Given the description of an element on the screen output the (x, y) to click on. 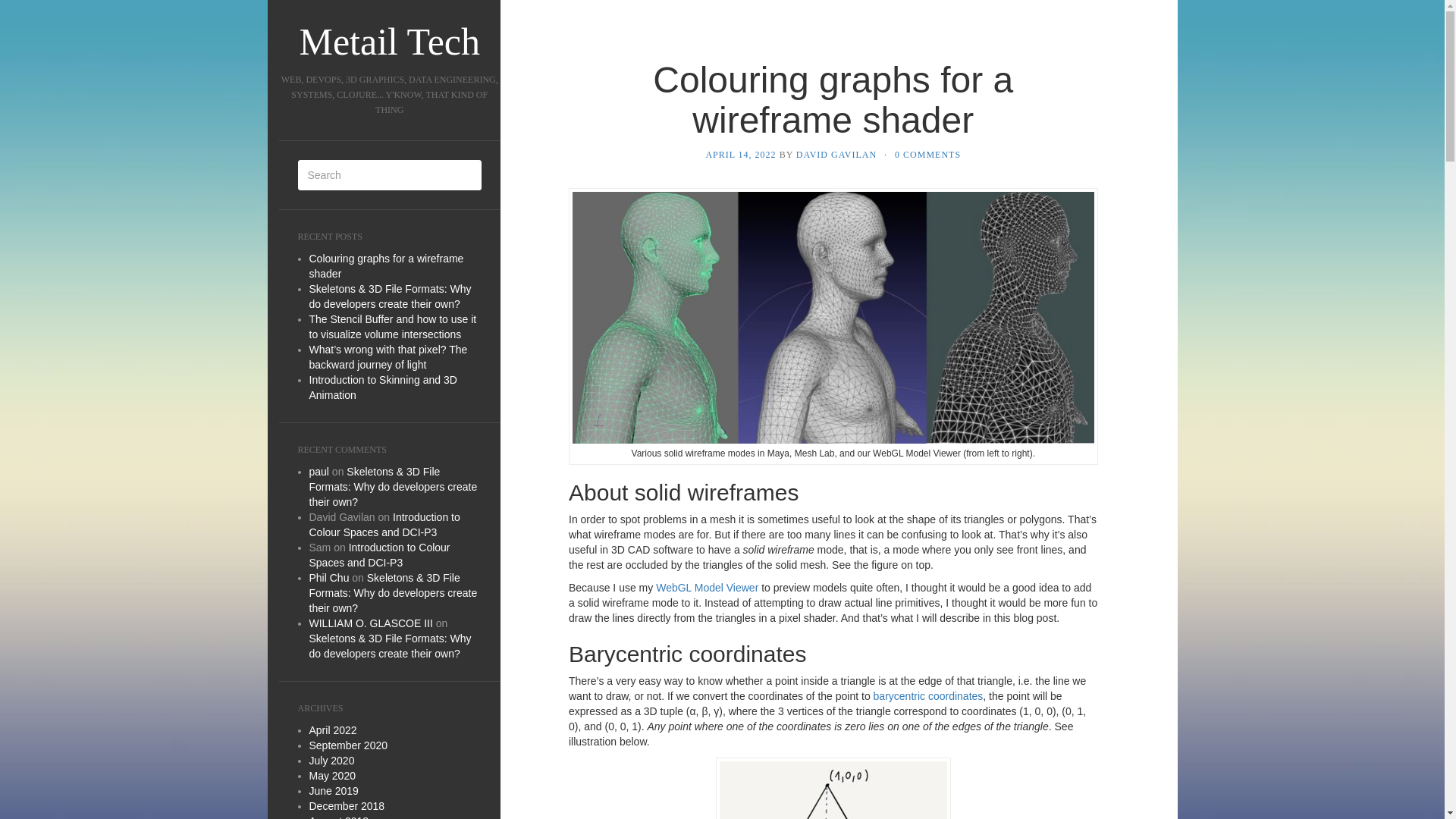
September 2020 (348, 745)
Introduction to Skinning and 3D Animation (382, 387)
June 2019 (333, 790)
Metail Tech (389, 41)
April 2022 (332, 729)
paul (318, 471)
Colouring graphs for a wireframe shader (386, 266)
WILLIAM O. GLASCOE III (370, 623)
Introduction to Colour Spaces and DCI-P3 (378, 554)
Introduction to Colour Spaces and DCI-P3 (384, 524)
Search (22, 9)
December 2018 (346, 806)
May 2020 (331, 775)
July 2020 (331, 760)
